Given the description of an element on the screen output the (x, y) to click on. 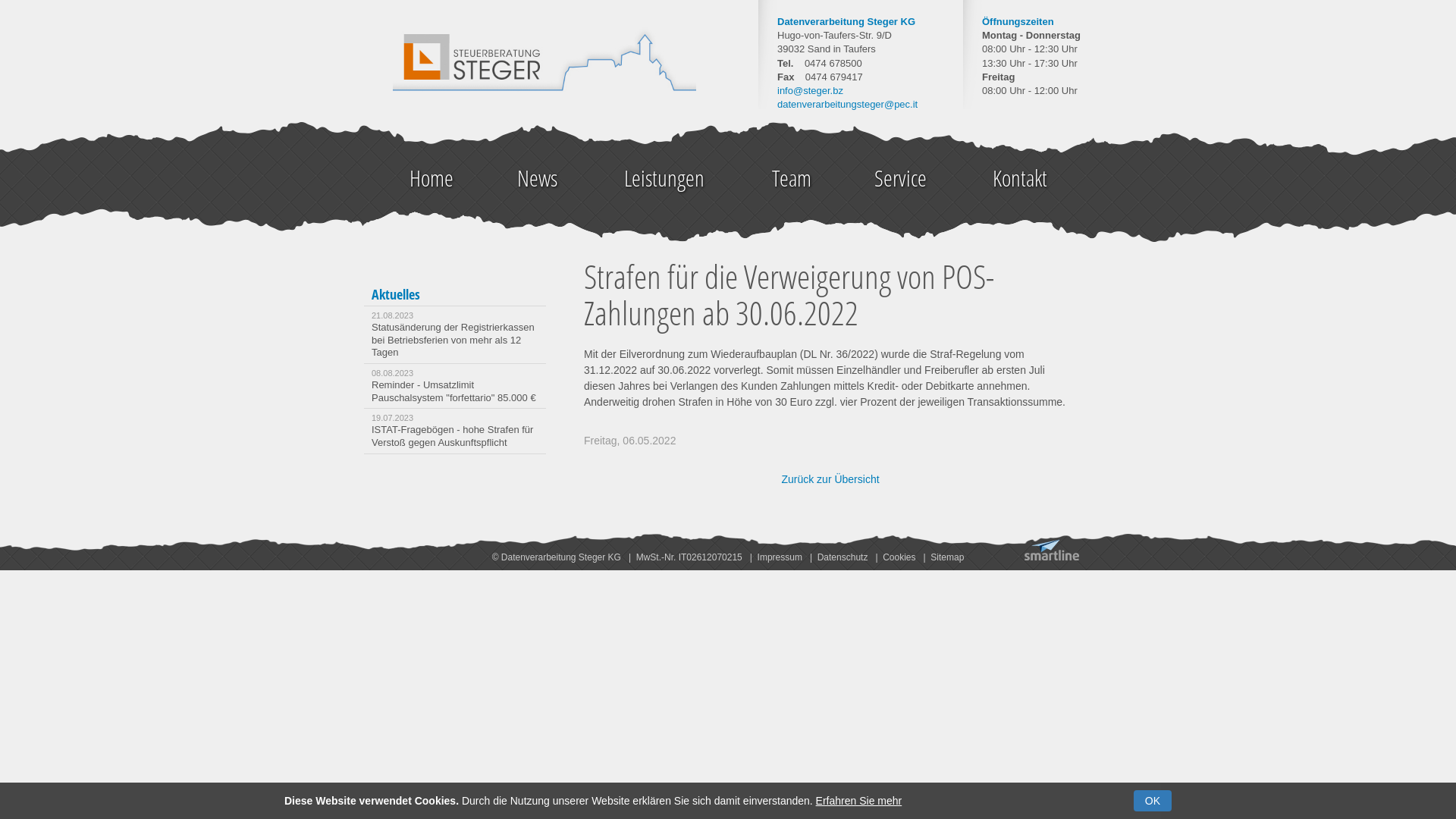
Service Element type: text (900, 178)
OK Element type: text (1152, 800)
Aktuelles Element type: text (395, 294)
Home Element type: text (431, 178)
Cookies Element type: text (898, 557)
Leistungen Element type: text (663, 178)
Erfahren Sie mehr Element type: text (858, 800)
News Element type: text (536, 178)
Datenschutz Element type: text (842, 557)
Sitemap Element type: text (946, 557)
info@steger.bz Element type: text (810, 90)
Impressum Element type: text (779, 557)
Team Element type: text (791, 178)
Kontakt Element type: text (1019, 178)
datenverarbeitungsteger@pec.it Element type: text (847, 103)
